Given the description of an element on the screen output the (x, y) to click on. 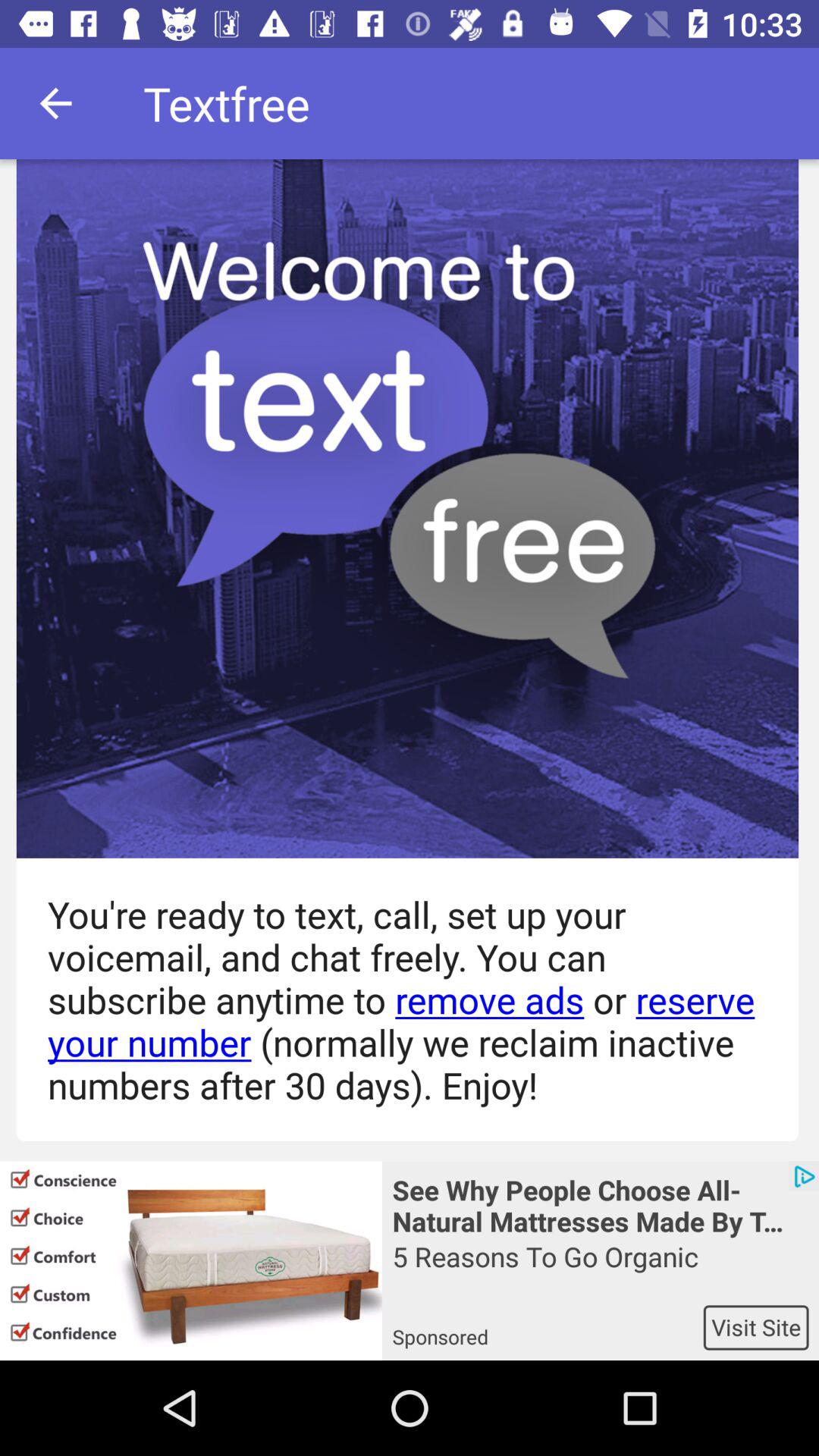
open the icon at the bottom left corner (191, 1260)
